Given the description of an element on the screen output the (x, y) to click on. 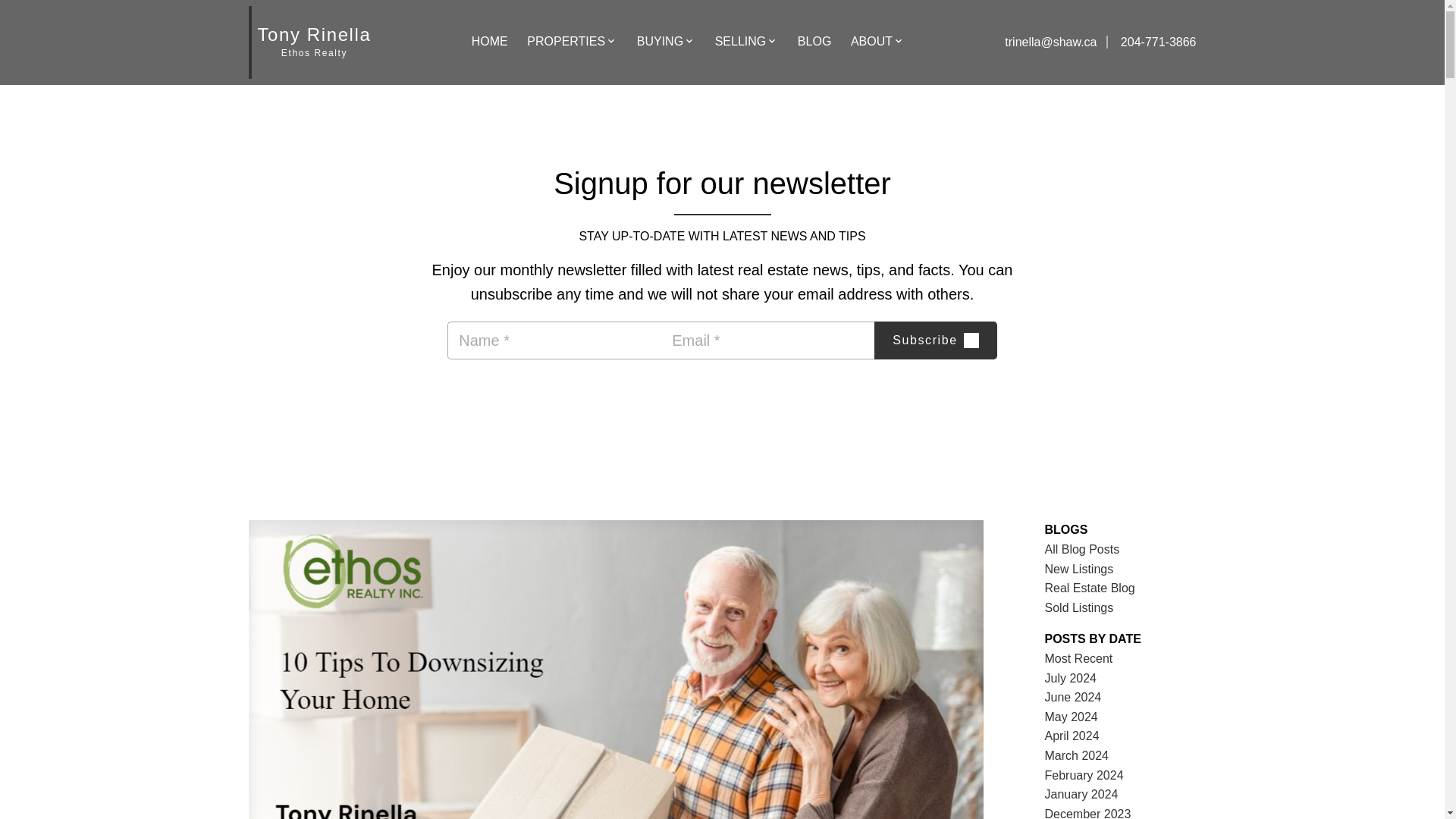
HOME (489, 42)
ABOUT (871, 42)
Subscribe (935, 340)
PROPERTIES (566, 42)
BLOG (814, 42)
  204-771-3866 (1151, 42)
BUYING (659, 42)
SELLING (740, 42)
